Given the description of an element on the screen output the (x, y) to click on. 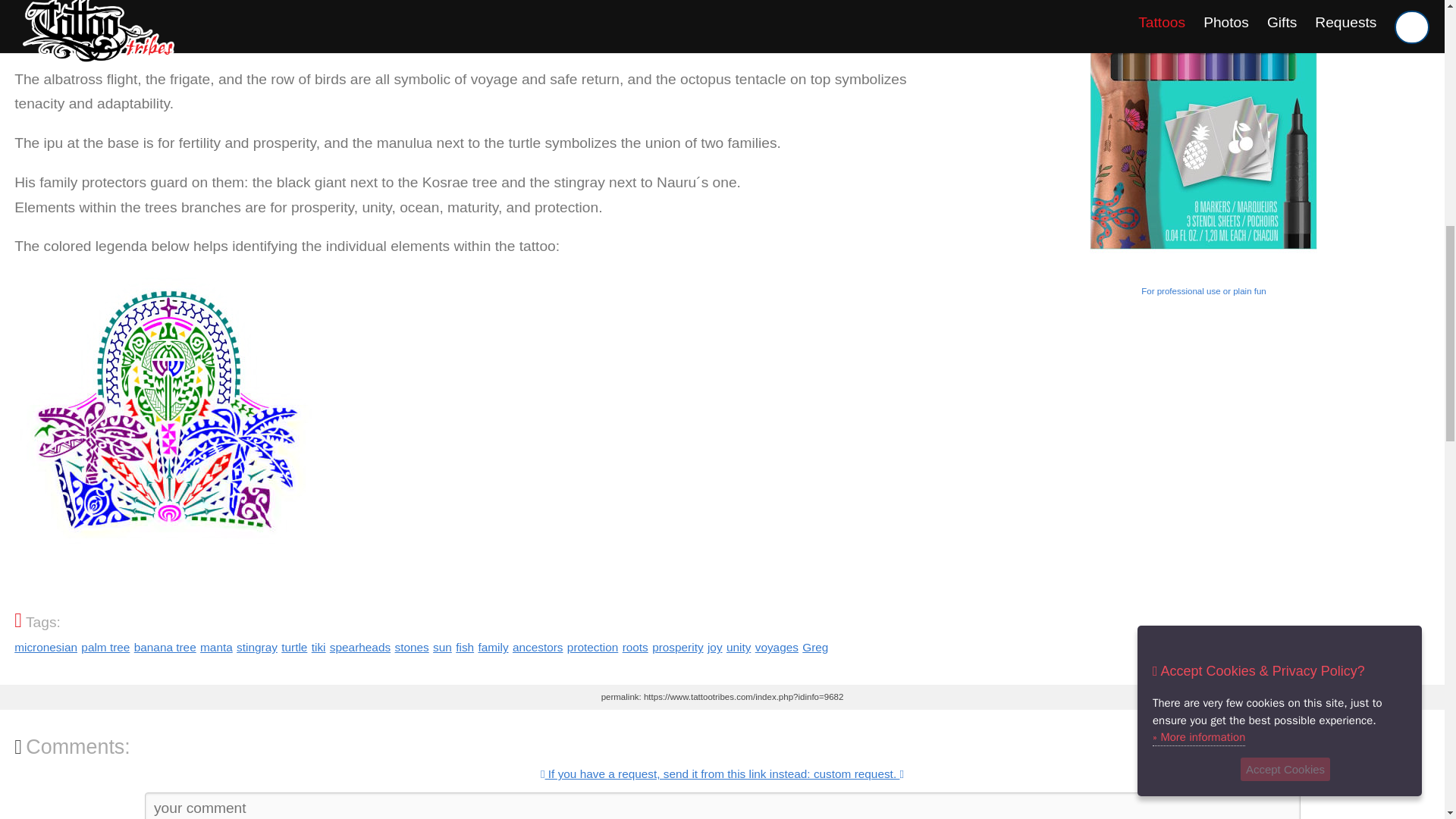
stones (411, 646)
turtle (294, 646)
palm tree (105, 646)
stingray (256, 646)
spearheads (360, 646)
banana tree (164, 646)
micronesian (45, 646)
tiki (318, 646)
